Given the description of an element on the screen output the (x, y) to click on. 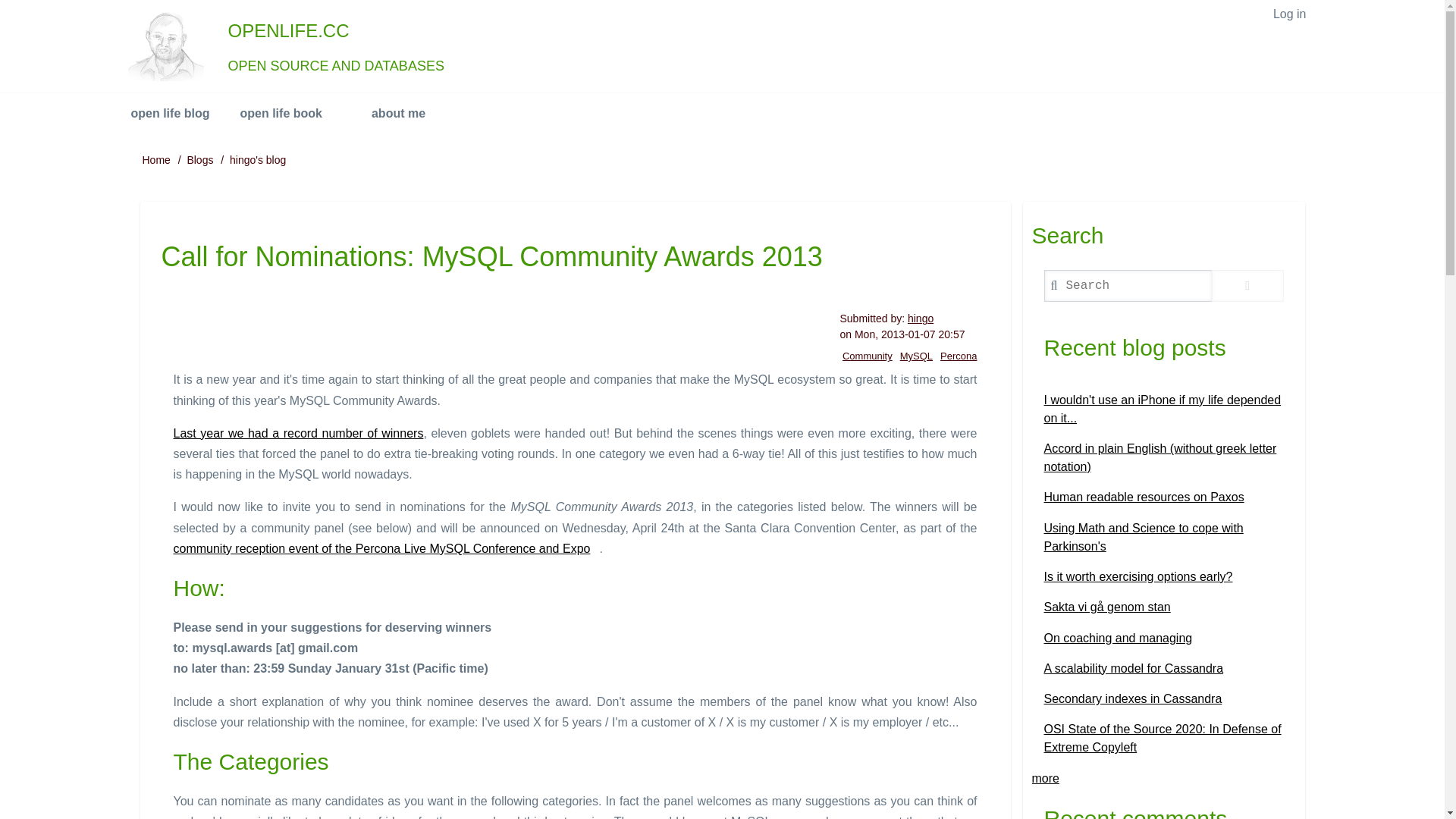
View user profile. (920, 318)
about me (398, 113)
open life book (289, 113)
hingo (920, 318)
Community (867, 355)
Log in (1289, 14)
hingo's blog (257, 159)
Blogs (199, 159)
Percona (958, 355)
